Given the description of an element on the screen output the (x, y) to click on. 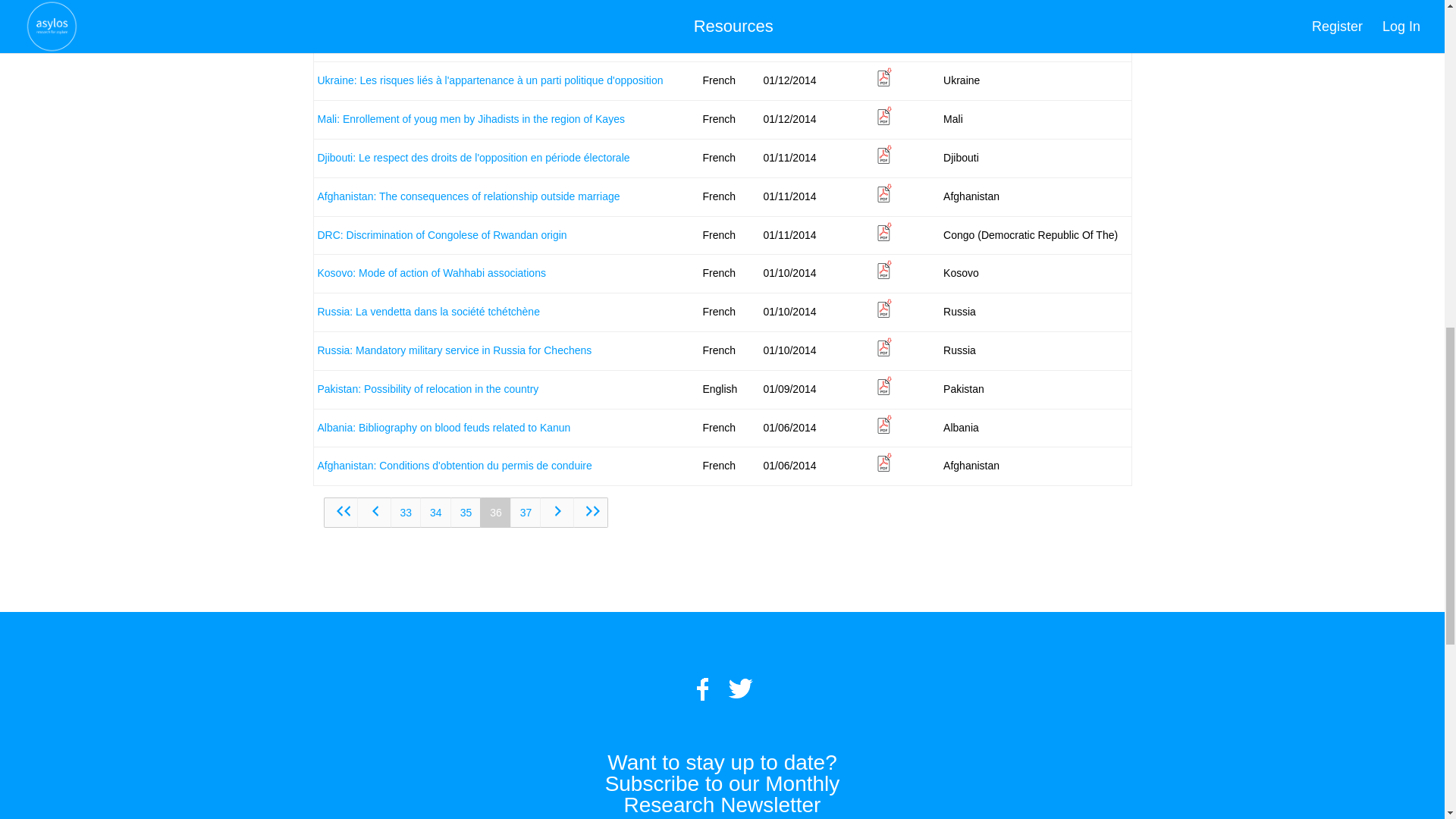
DRC: Discrimination of Congolese of Rwandan origin (441, 234)
Last (590, 512)
Russia: Paternity for children born outside civil marriage (448, 4)
Next (557, 512)
Kosovo: Mode of action of Wahhabi associations (430, 272)
First (340, 512)
Previous (373, 512)
